Given the description of an element on the screen output the (x, y) to click on. 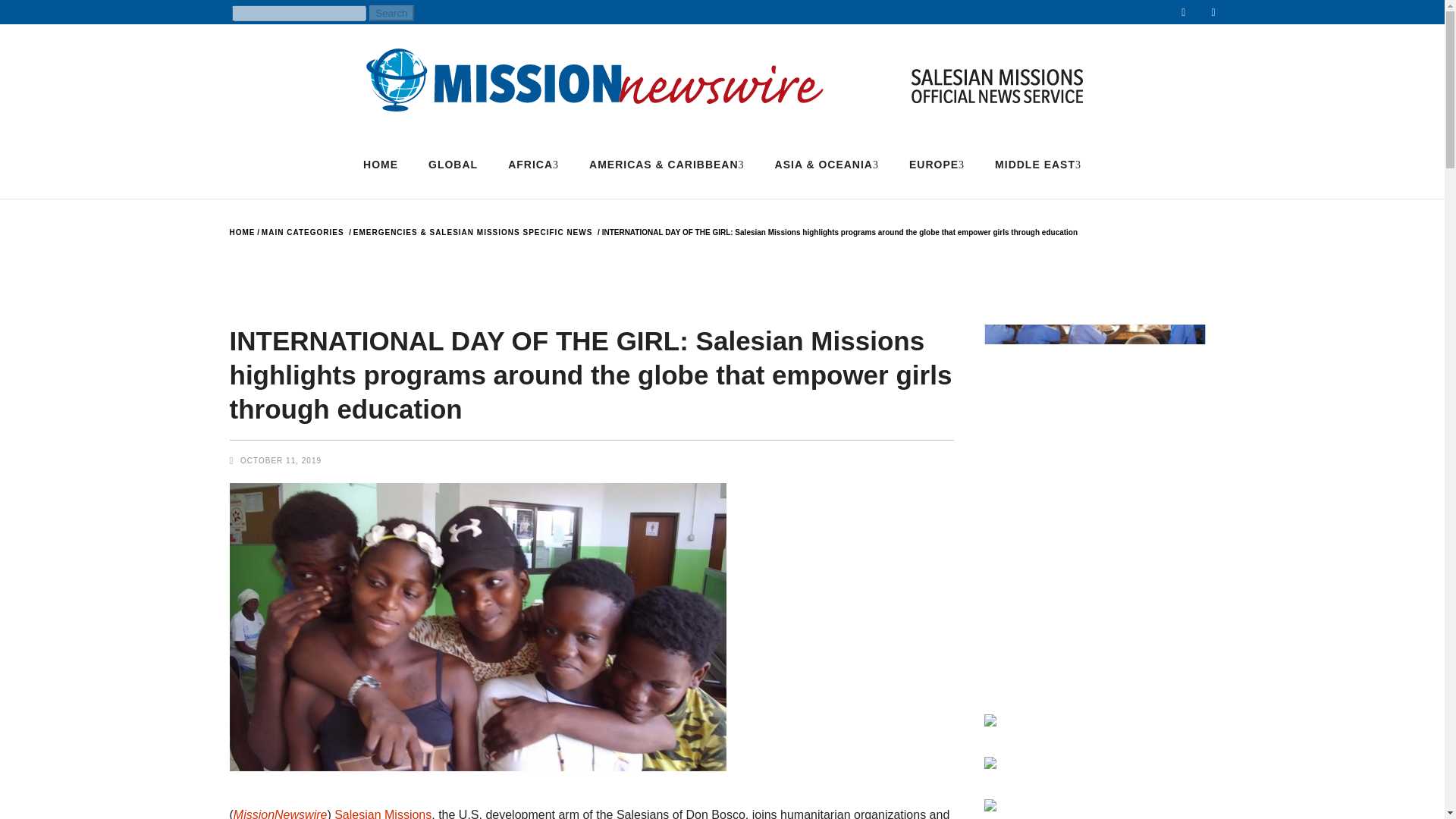
GLOBAL (453, 164)
HOME (380, 164)
Search (391, 12)
AFRICA (533, 164)
Search (391, 12)
